Given the description of an element on the screen output the (x, y) to click on. 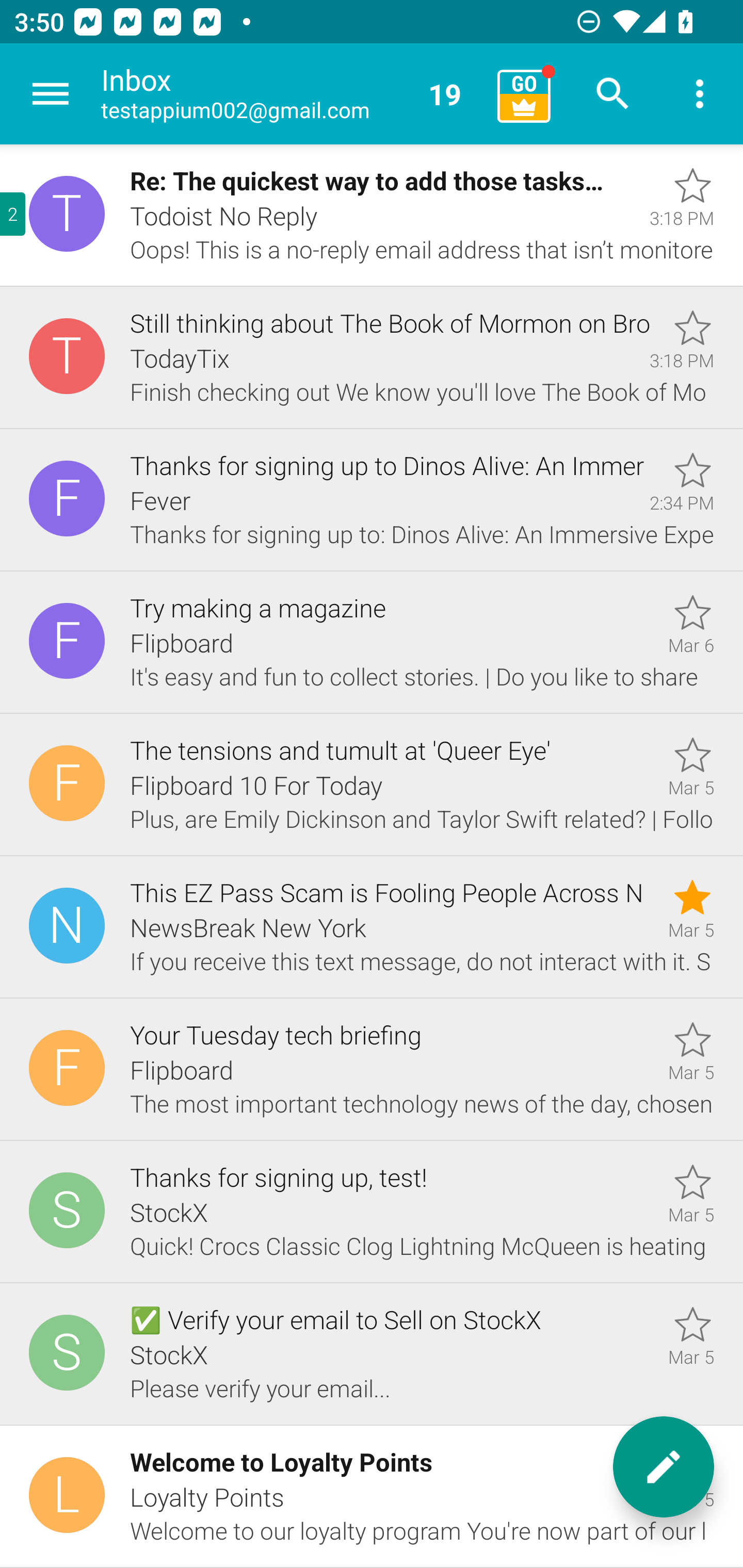
Navigate up (50, 93)
Inbox testappium002@gmail.com 19 (291, 93)
Search (612, 93)
More options (699, 93)
New message (663, 1466)
